Given the description of an element on the screen output the (x, y) to click on. 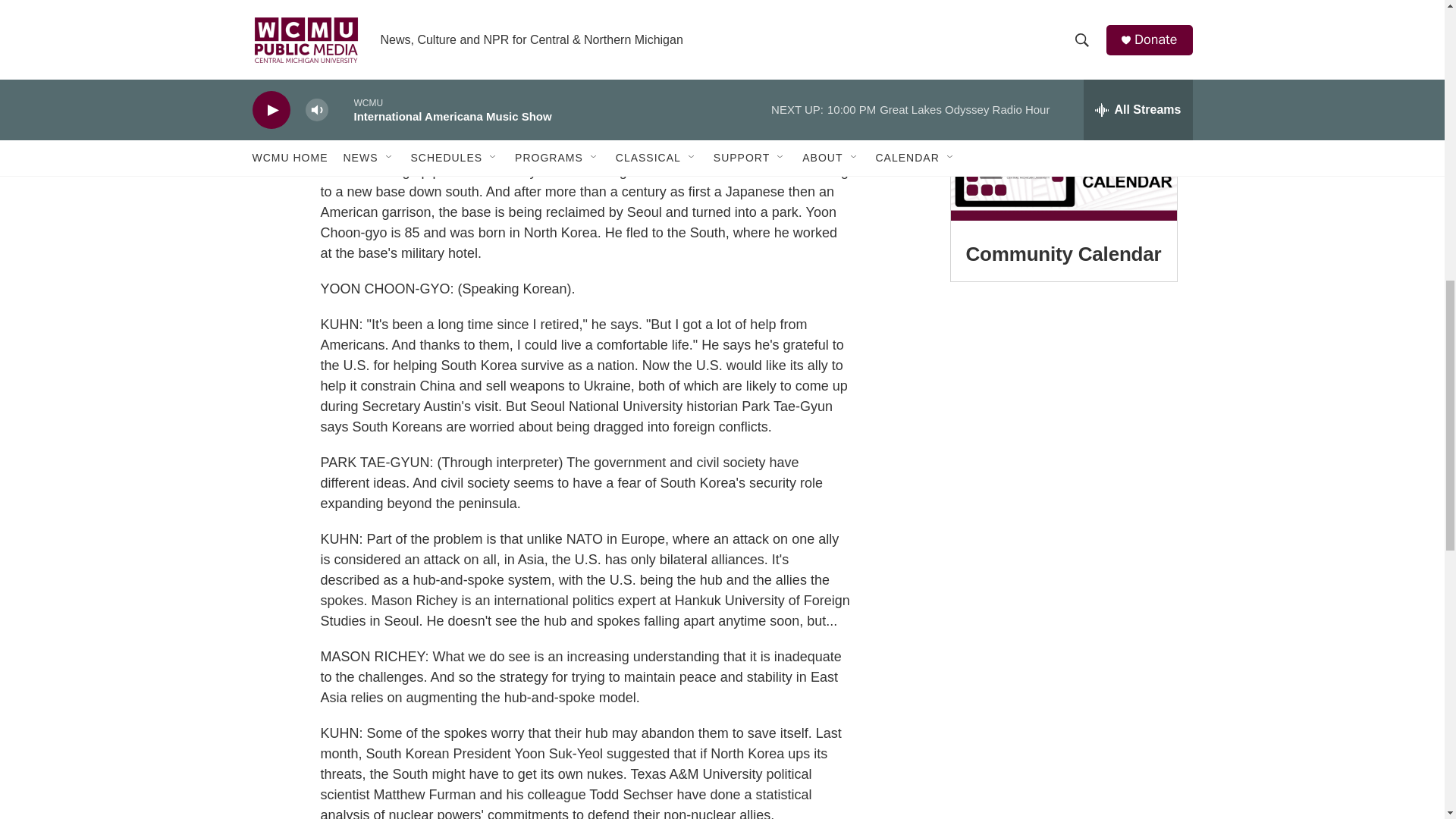
3rd party ad content (1062, 31)
